Given the description of an element on the screen output the (x, y) to click on. 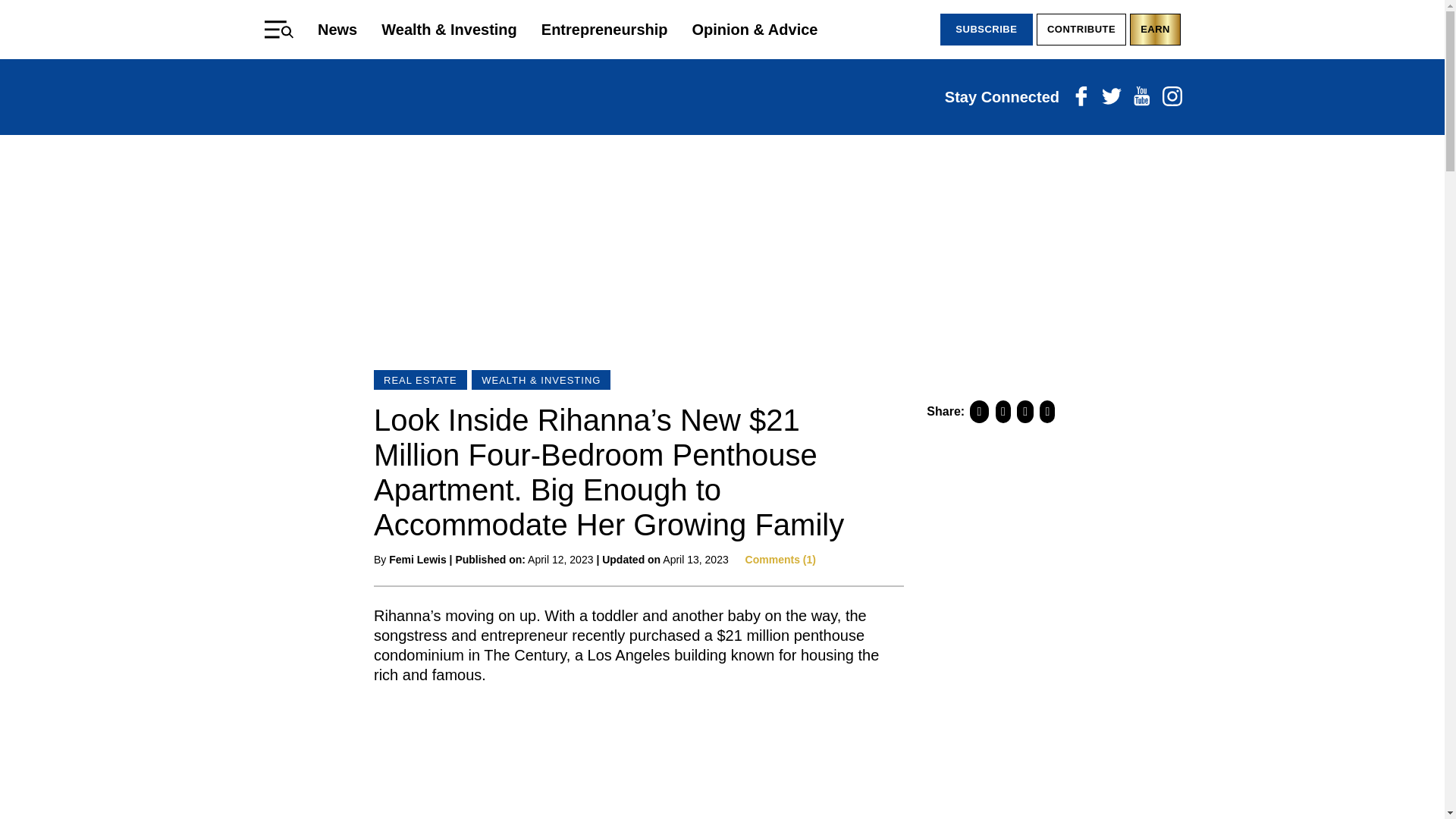
REAL ESTATE (420, 379)
CONTRIBUTE (1080, 29)
Entrepreneurship (604, 29)
Femi Lewis (416, 559)
EARN (1154, 29)
News (336, 29)
Finurah (722, 96)
SUBSCRIBE (986, 29)
